Given the description of an element on the screen output the (x, y) to click on. 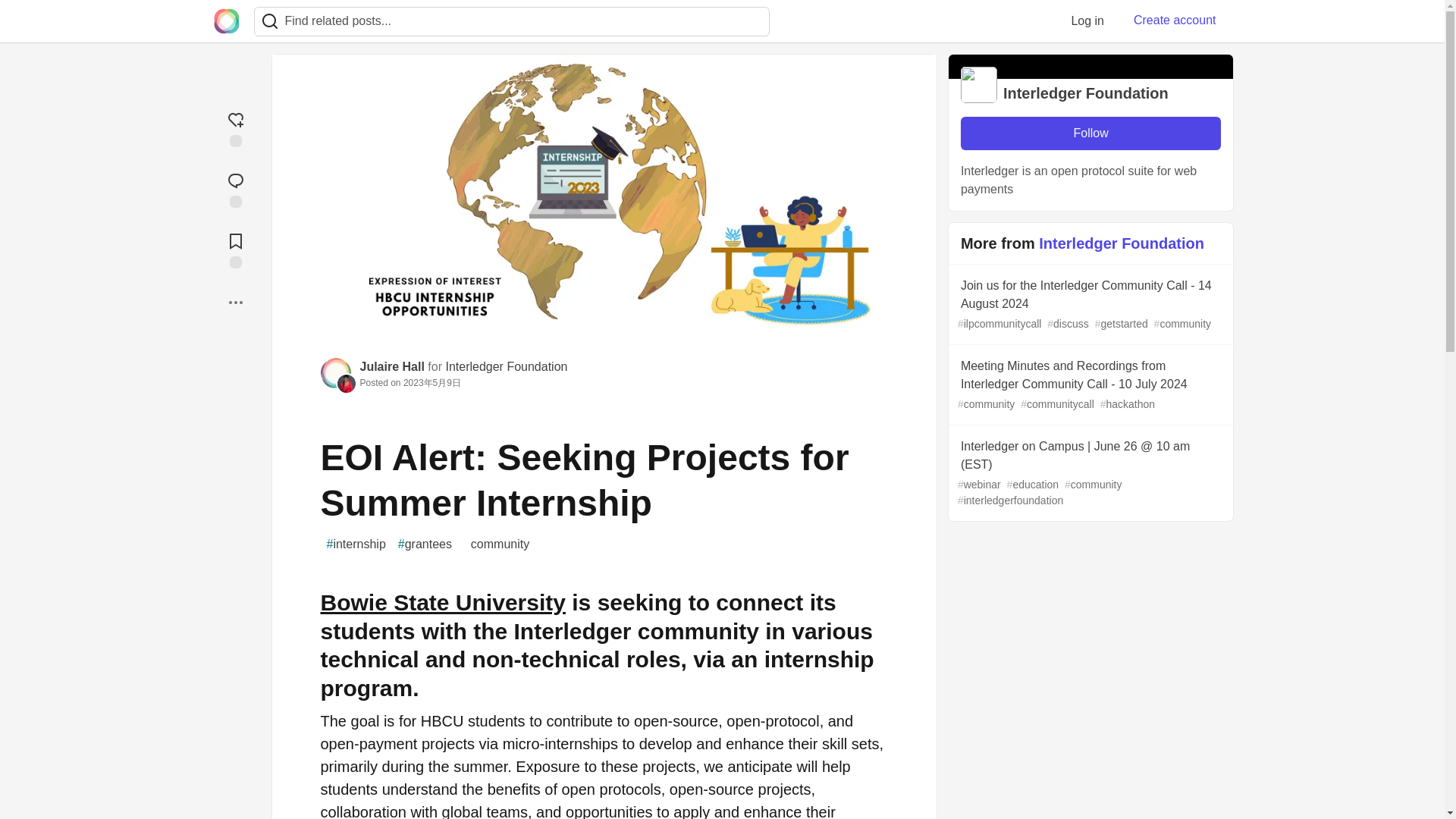
Interledger Foundation (506, 366)
Julaire Hall (391, 366)
Log in (1087, 20)
Search (269, 21)
More... (234, 302)
More... (234, 302)
Search (269, 21)
Create account (1174, 20)
